Given the description of an element on the screen output the (x, y) to click on. 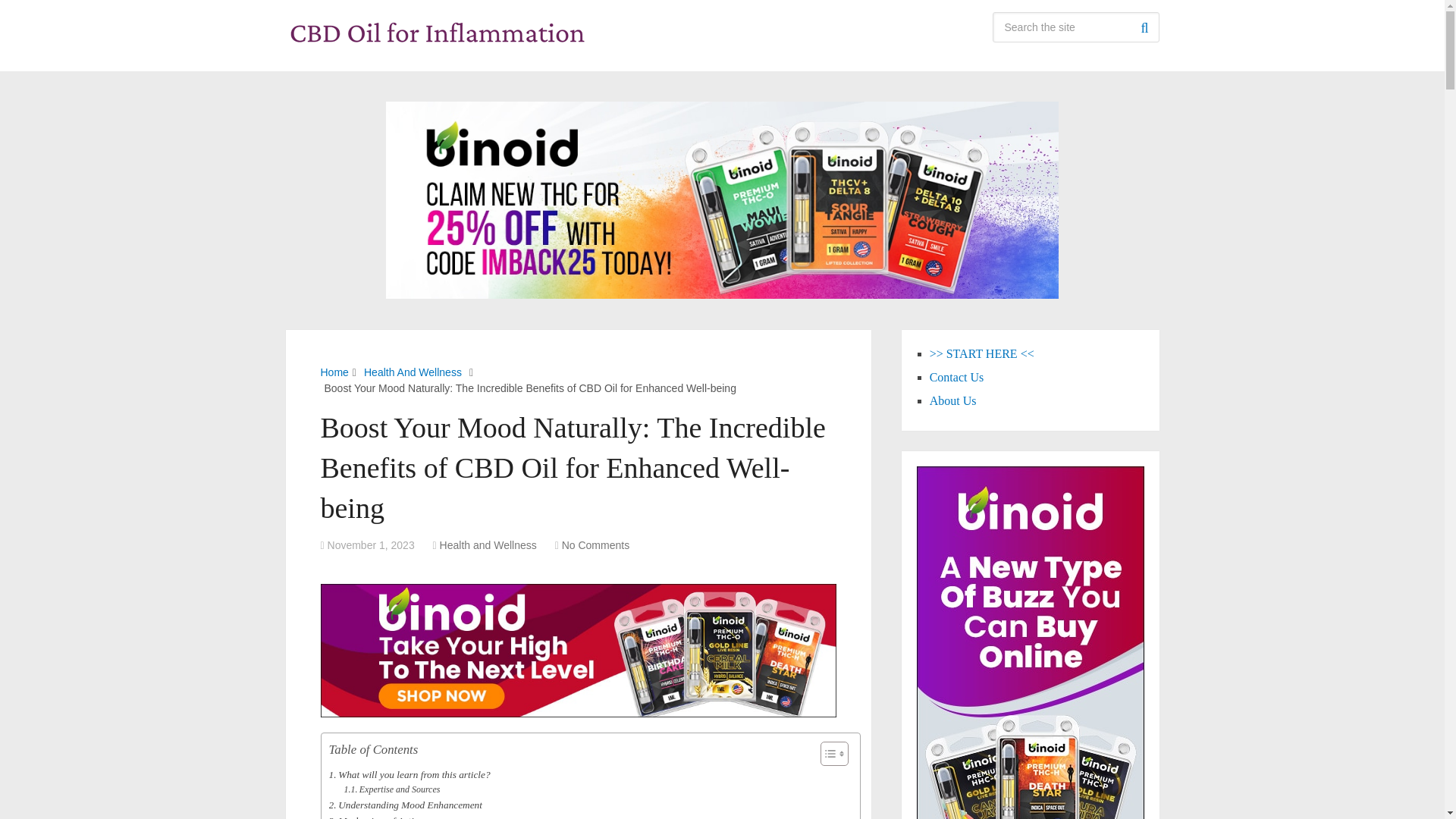
Mechanism of Action (376, 816)
Understanding Mood Enhancement (405, 804)
Expertise and Sources (391, 789)
Home (333, 372)
Health And Wellness (412, 372)
Expertise and Sources (391, 789)
View all posts in Health and Wellness (488, 544)
Search (1143, 27)
Mechanism of Action (376, 816)
What will you learn from this article? (409, 774)
